Given the description of an element on the screen output the (x, y) to click on. 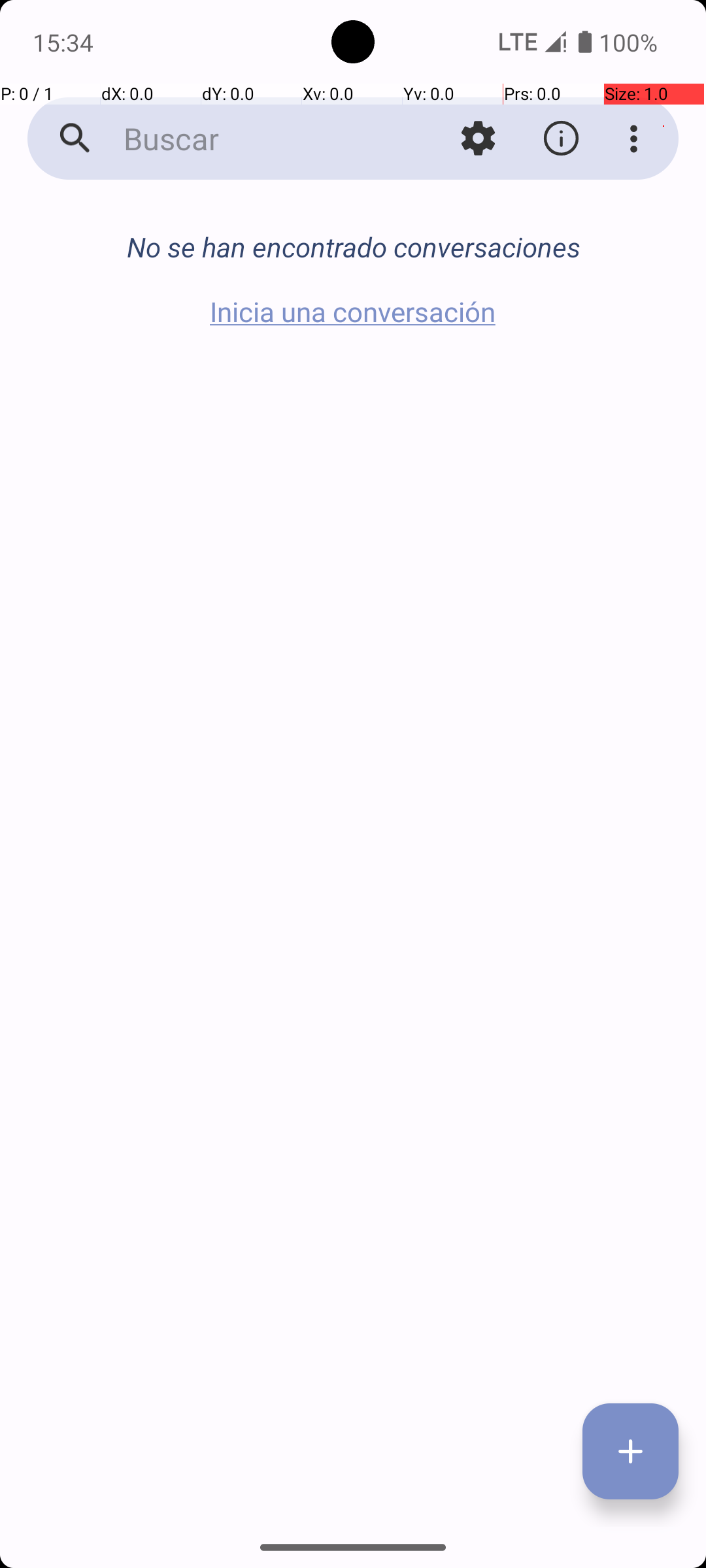
Acerca de Element type: android.widget.Button (560, 138)
No se han encontrado conversaciones Element type: android.widget.TextView (353, 246)
Inicia una conversación Element type: android.widget.TextView (352, 311)
